Given the description of an element on the screen output the (x, y) to click on. 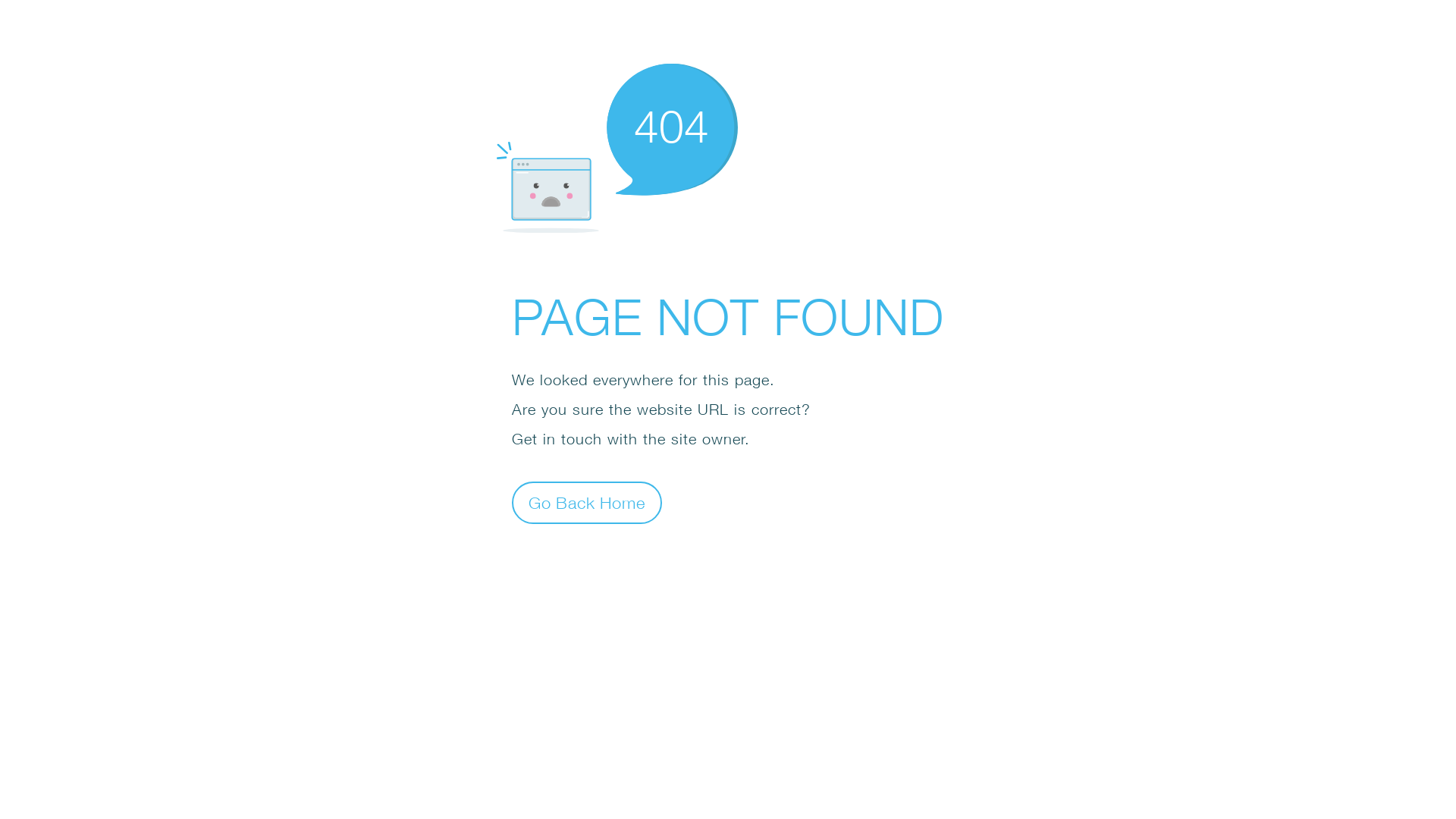
Go Back Home Element type: text (586, 502)
